Given the description of an element on the screen output the (x, y) to click on. 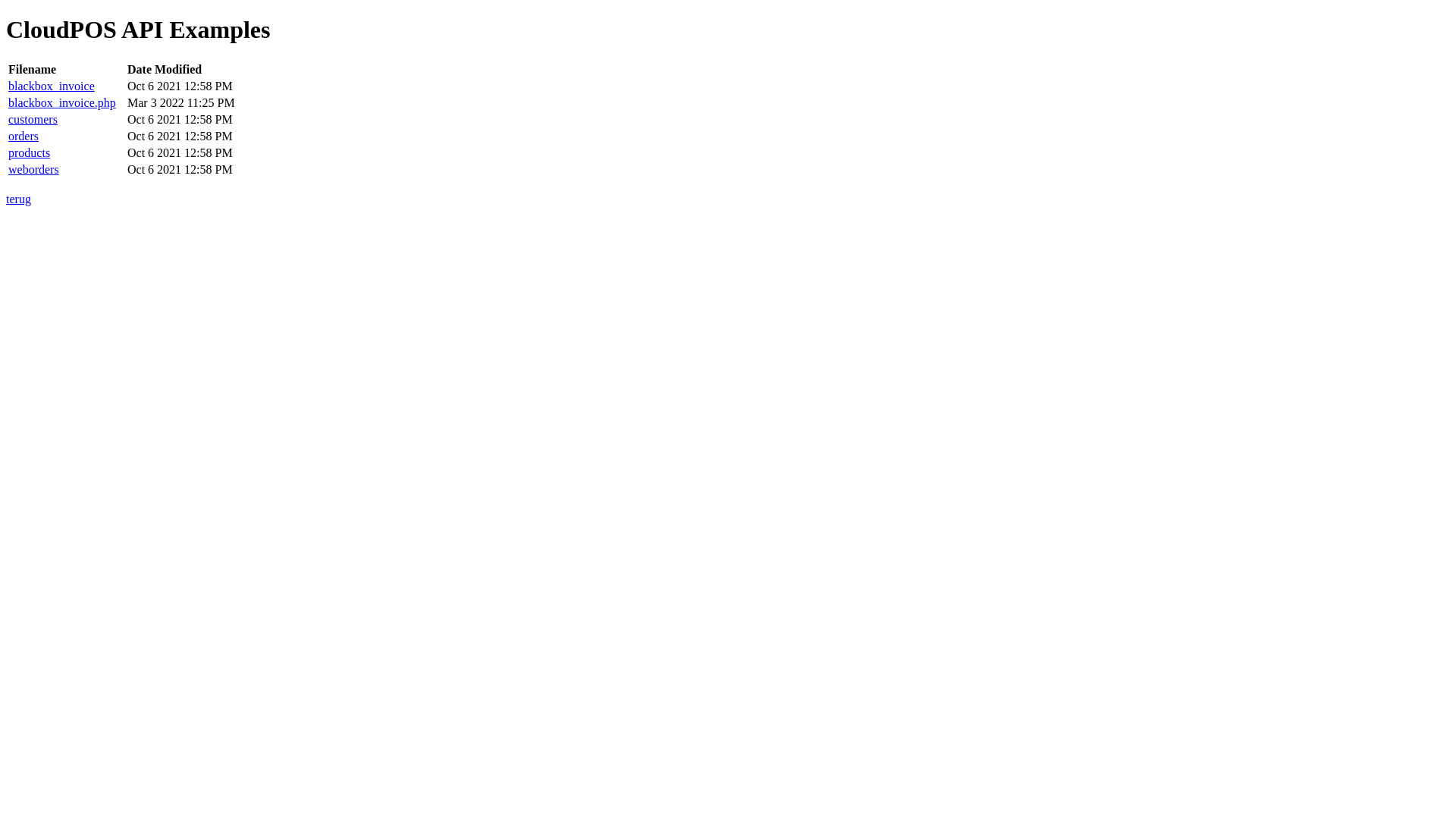
orders Element type: text (23, 135)
customers Element type: text (32, 118)
weborders Element type: text (33, 169)
terug Element type: text (18, 198)
products Element type: text (29, 152)
blackbox_invoice Element type: text (51, 85)
blackbox_invoice.php Element type: text (62, 102)
